Given the description of an element on the screen output the (x, y) to click on. 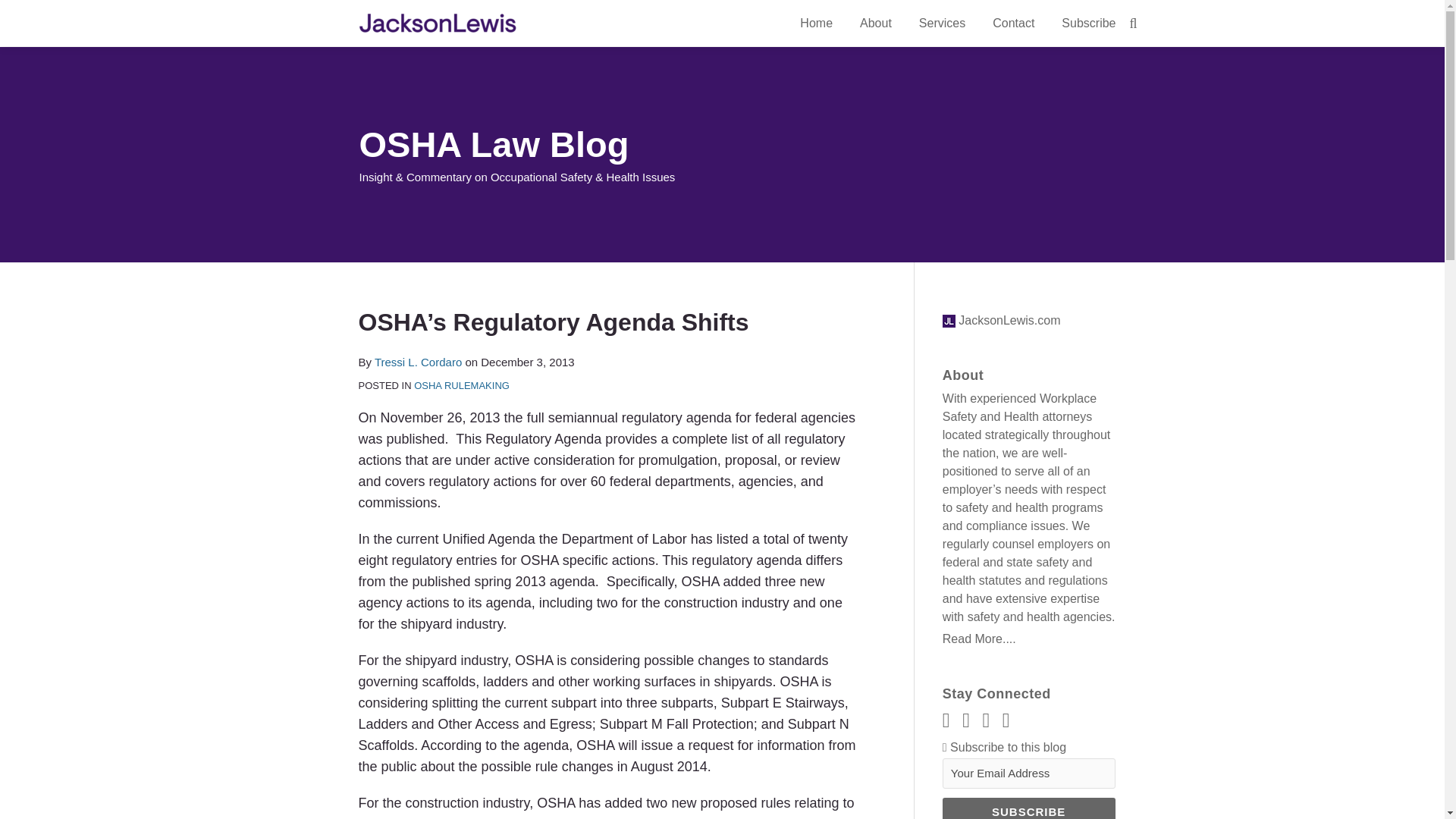
Subscribe (1028, 808)
Tressi L. Cordaro (417, 361)
JacksonLewis.com (1001, 319)
Read More.... (1028, 638)
About (875, 23)
Home (815, 23)
OSHA RULEMAKING (461, 385)
Contact (1012, 23)
Services (941, 23)
Subscribe (1028, 808)
OSHA Law Blog (493, 144)
Subscribe (1088, 23)
